Given the description of an element on the screen output the (x, y) to click on. 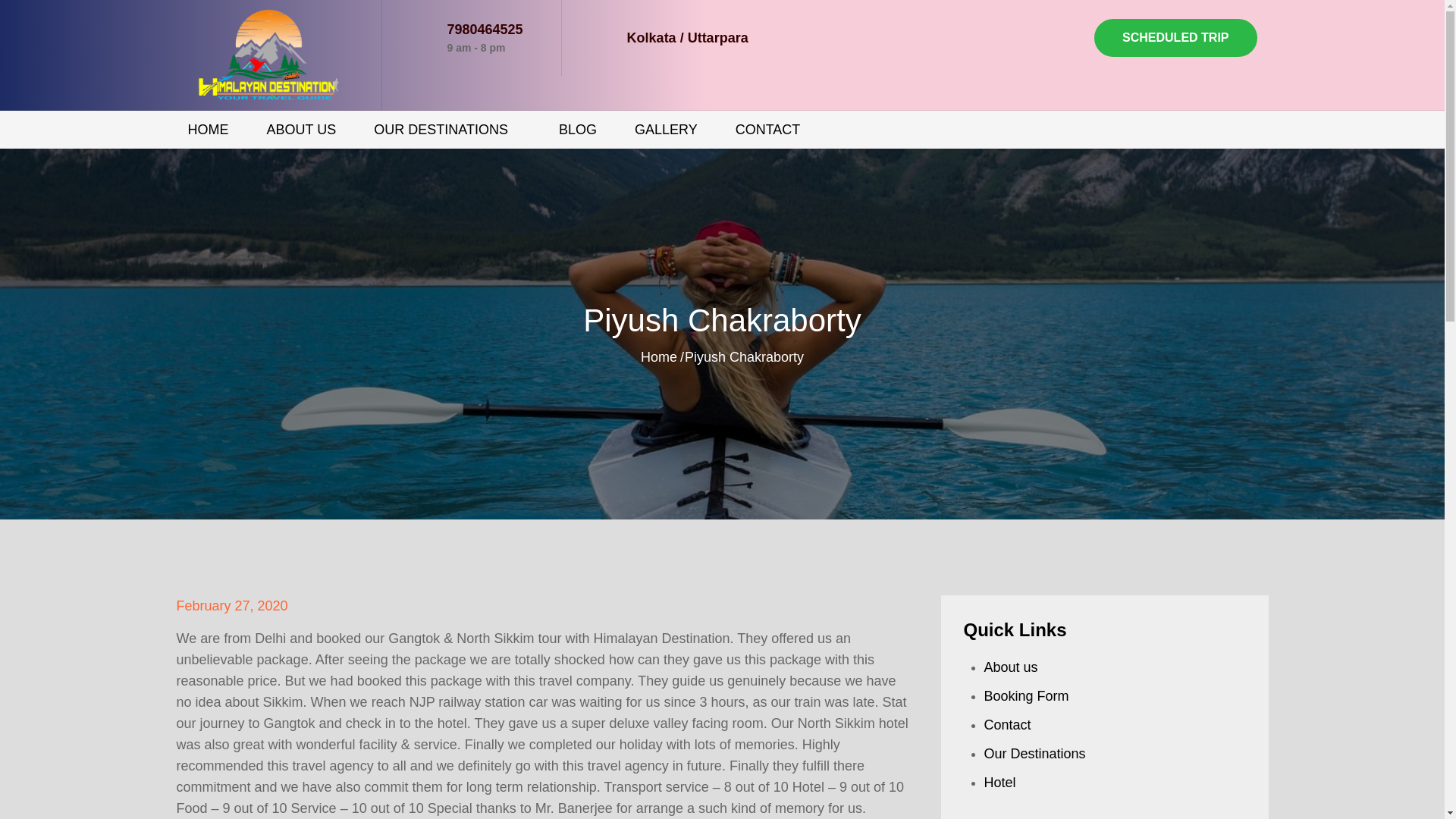
Our Destinations (1035, 753)
BLOG (577, 129)
Hotel (1000, 782)
February 27, 2020 (231, 605)
CONTACT (767, 129)
GALLERY (665, 129)
HOME (207, 129)
Contact (1007, 724)
7980464525 (484, 29)
Home (658, 356)
